Given the description of an element on the screen output the (x, y) to click on. 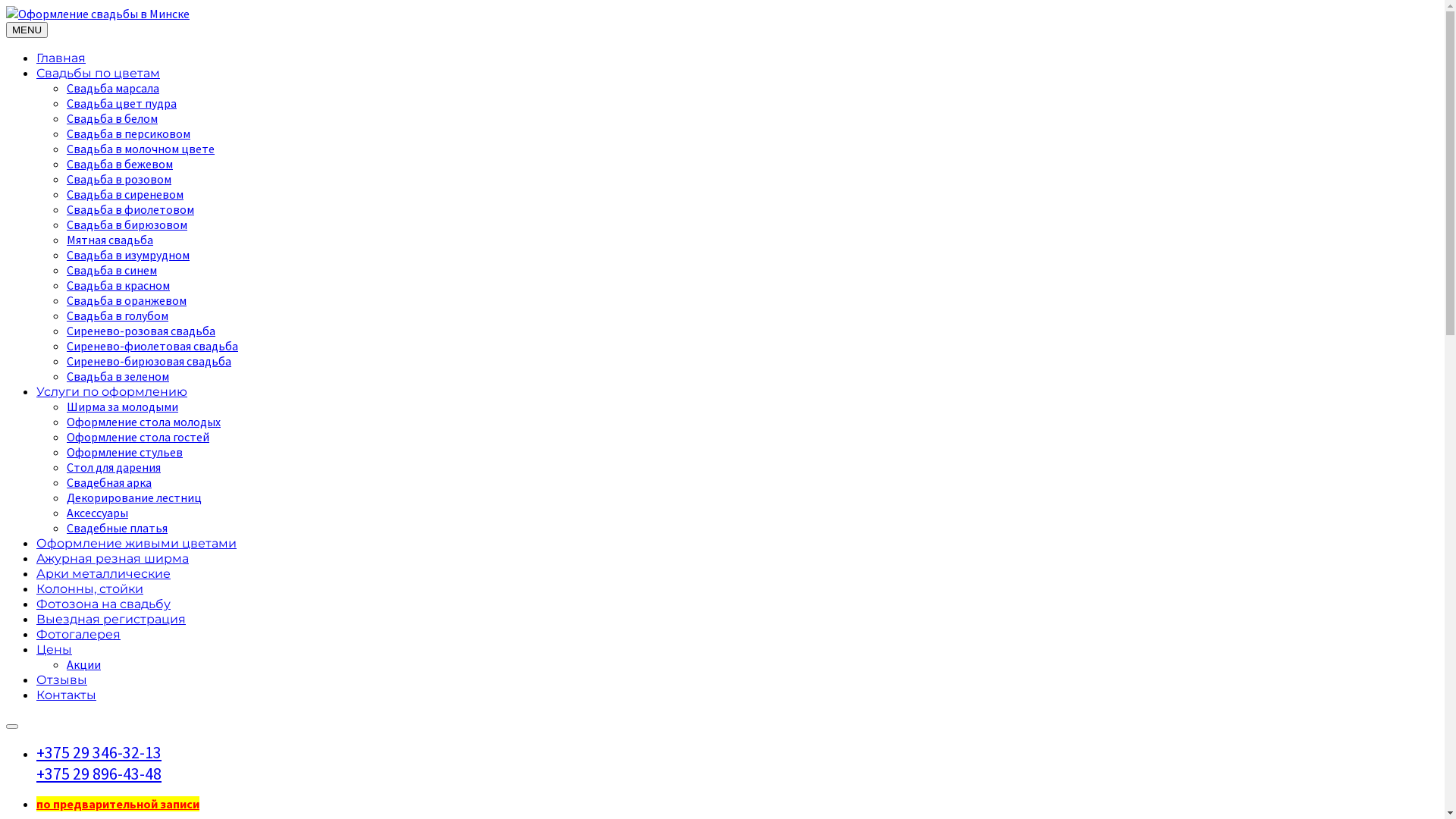
+375 29 896-43-48 Element type: text (98, 773)
+375 29 346-32-13 Element type: text (98, 751)
MENU Element type: text (26, 29)
